Given the description of an element on the screen output the (x, y) to click on. 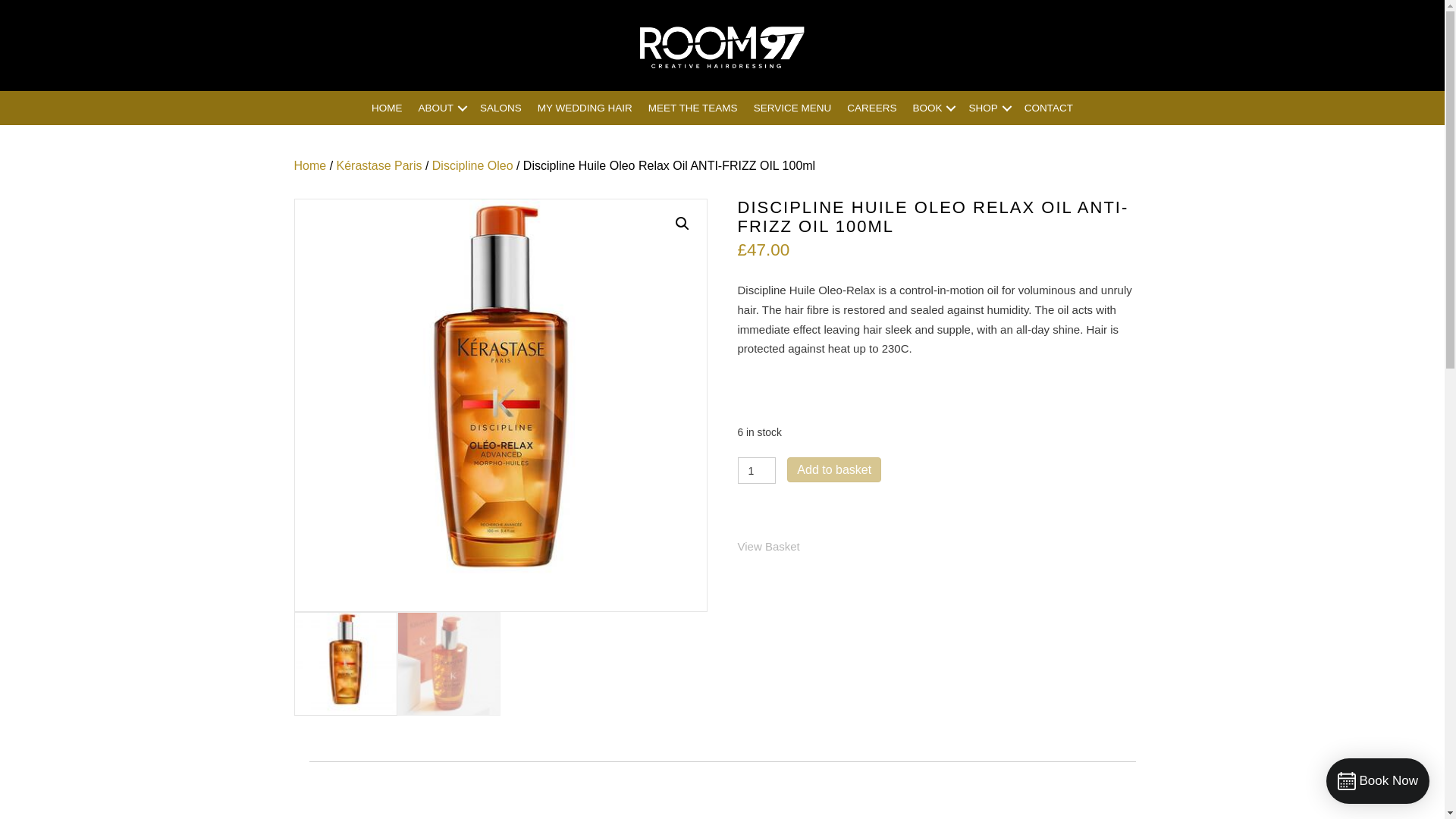
CAREERS (872, 108)
BOOK (931, 108)
1 (756, 470)
SALONS (500, 108)
SHOP (987, 108)
SERVICE MENU (792, 108)
HOME (387, 108)
ABOUT (440, 108)
MEET THE TEAMS (692, 108)
MY WEDDING HAIR (584, 108)
CONTACT (1048, 108)
whitelogo (722, 46)
